Given the description of an element on the screen output the (x, y) to click on. 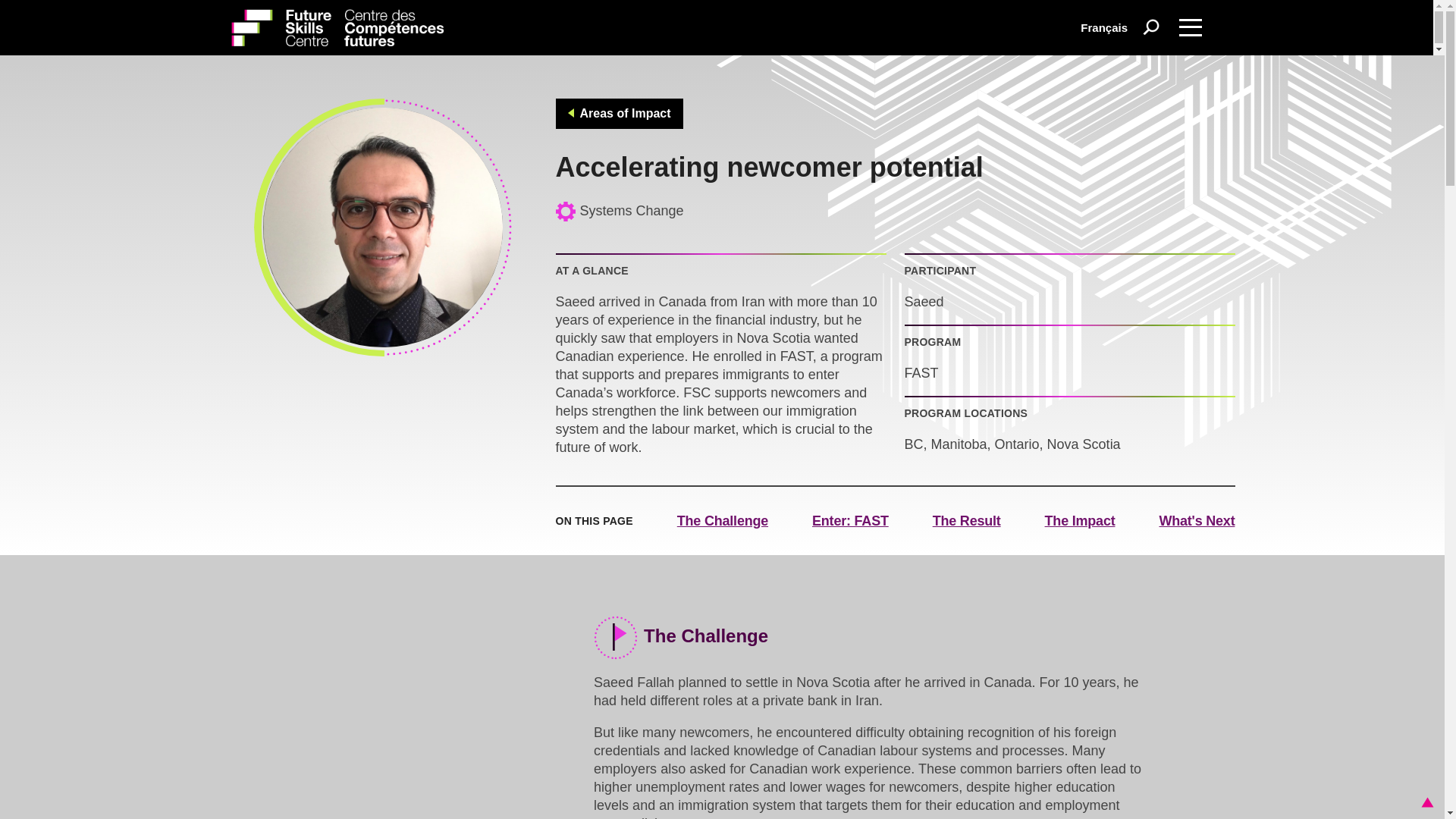
Skills Development Stories: FAST (415, 682)
Search Created with Sketch. (1150, 27)
